Given the description of an element on the screen output the (x, y) to click on. 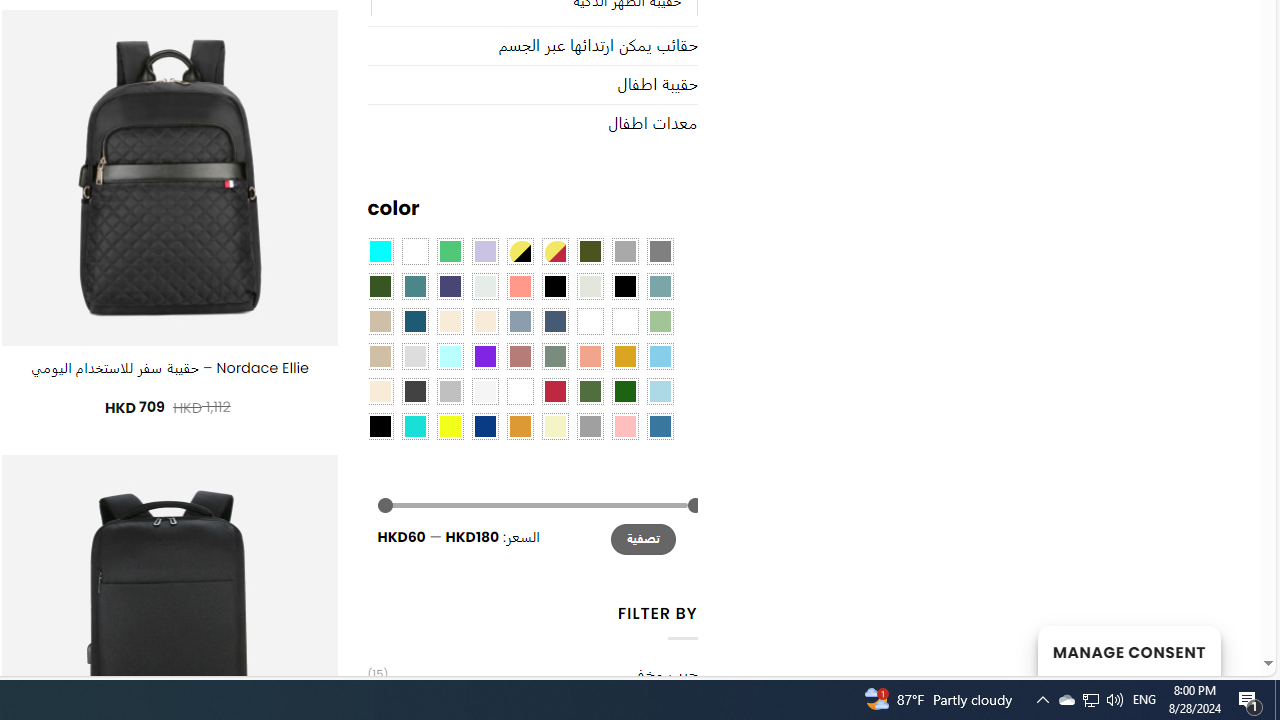
Teal (414, 285)
Dull Nickle (484, 285)
All Black (554, 285)
Light Purple (484, 251)
Clear (414, 251)
Forest (379, 285)
